Given the description of an element on the screen output the (x, y) to click on. 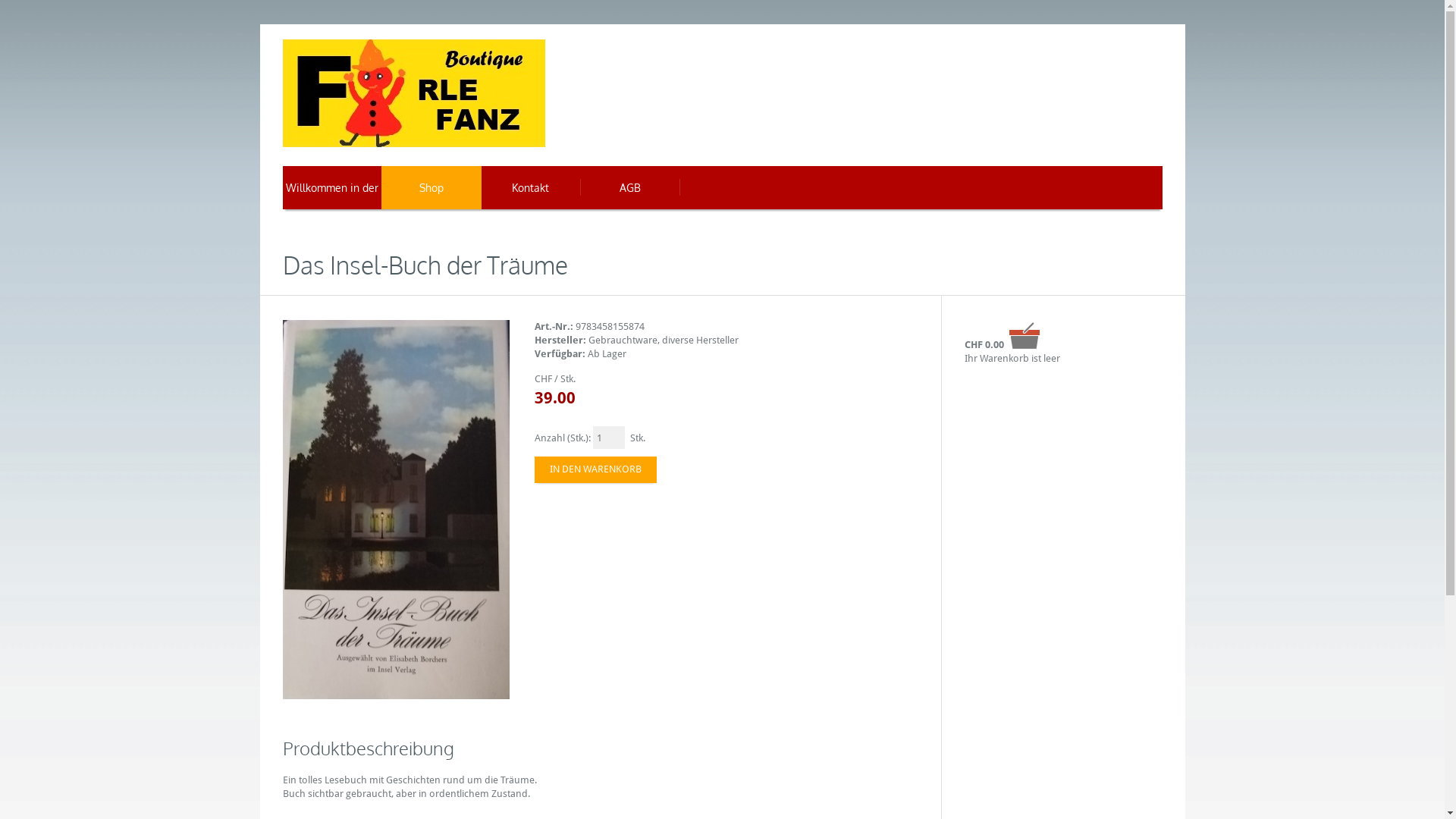
Kontakt Element type: text (530, 187)
Shop Element type: text (430, 187)
Willkommen in der Boutique Firlefanz Element type: text (332, 187)
AGB Element type: text (629, 187)
In den Warenkorb Element type: text (595, 469)
